Given the description of an element on the screen output the (x, y) to click on. 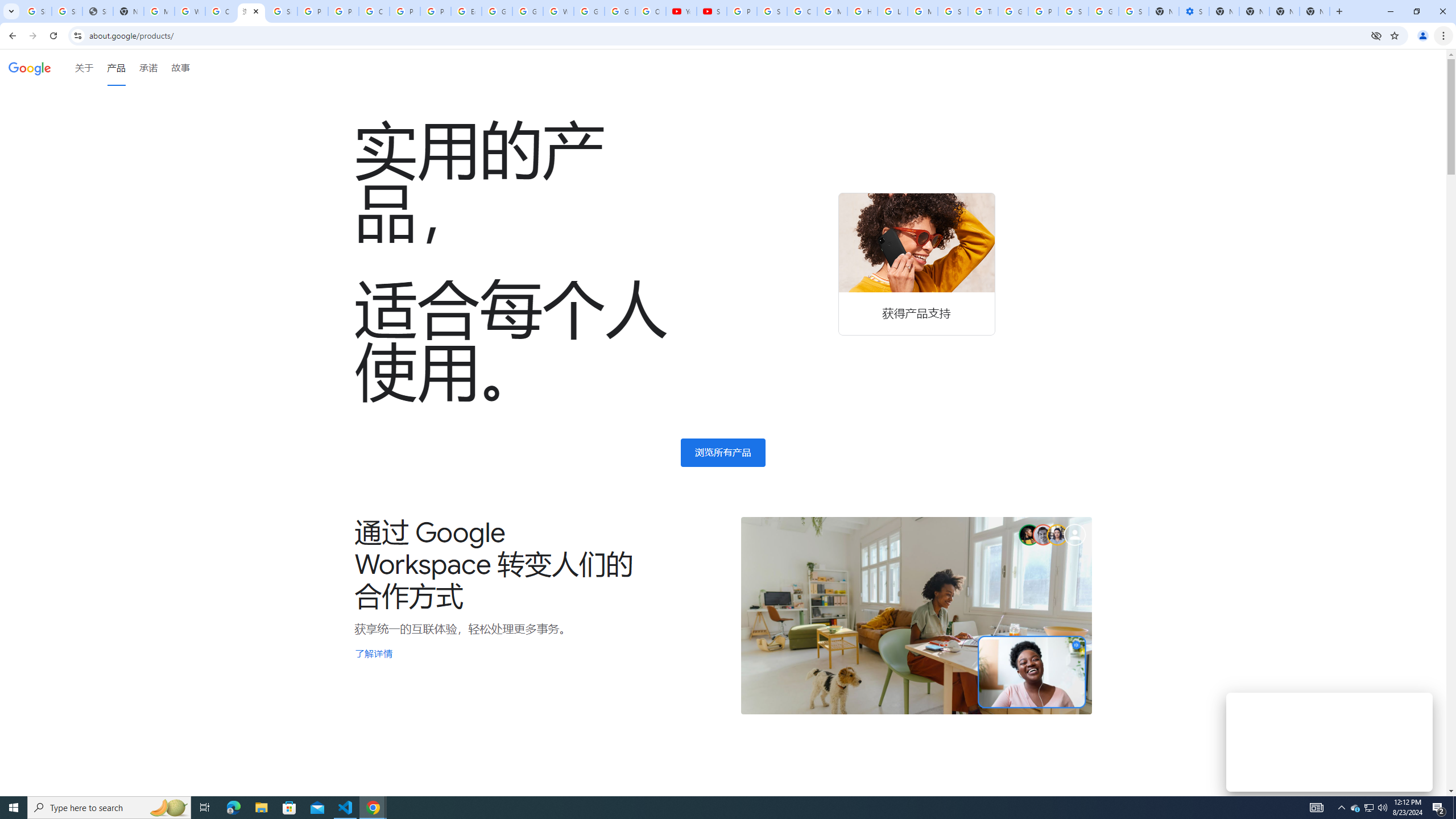
Create your Google Account (373, 11)
Subscriptions - YouTube (711, 11)
Trusted Information and Content - Google Safety Center (982, 11)
Sign in - Google Accounts (771, 11)
